Given the description of an element on the screen output the (x, y) to click on. 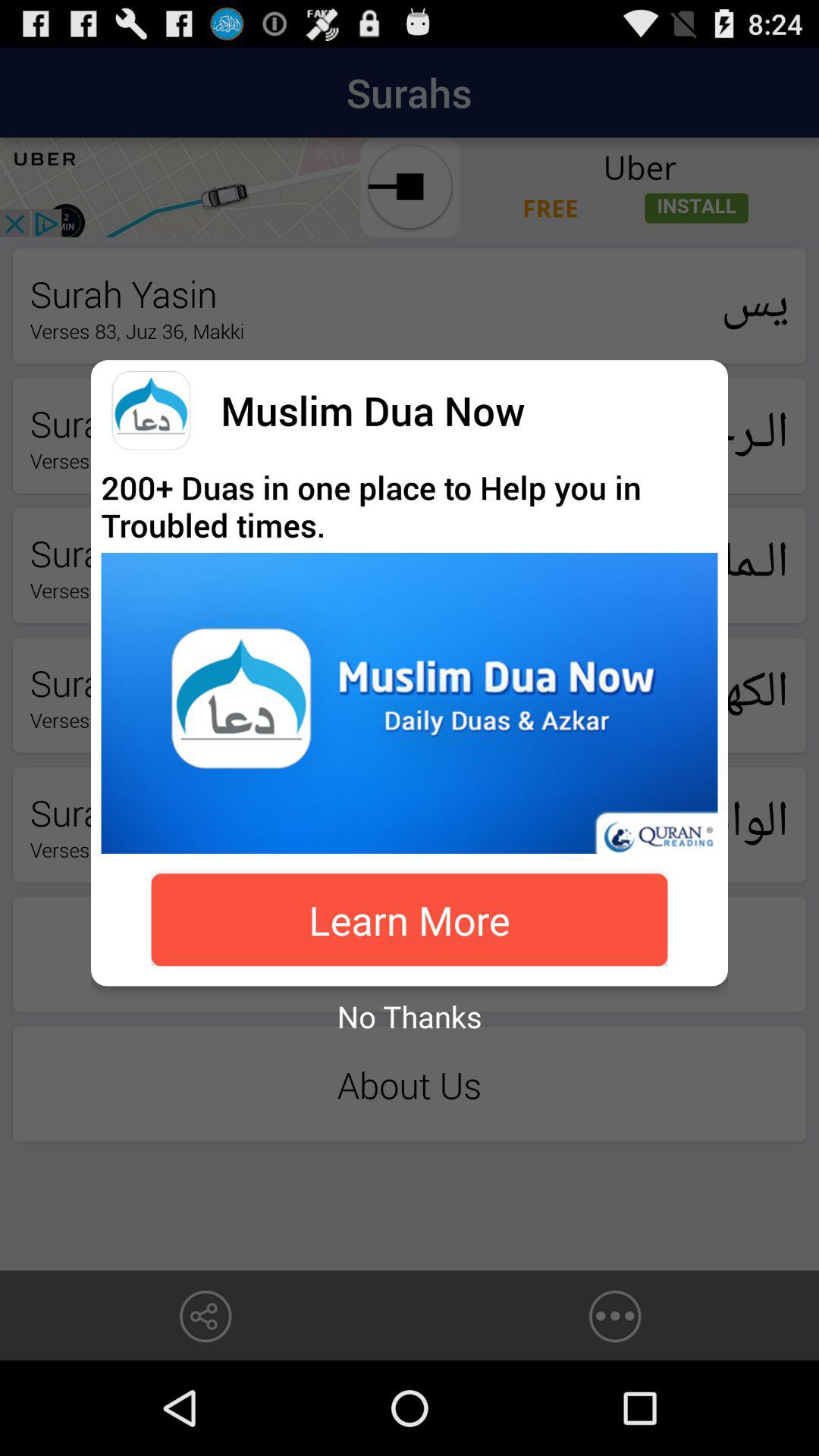
flip until no thanks app (409, 1016)
